Given the description of an element on the screen output the (x, y) to click on. 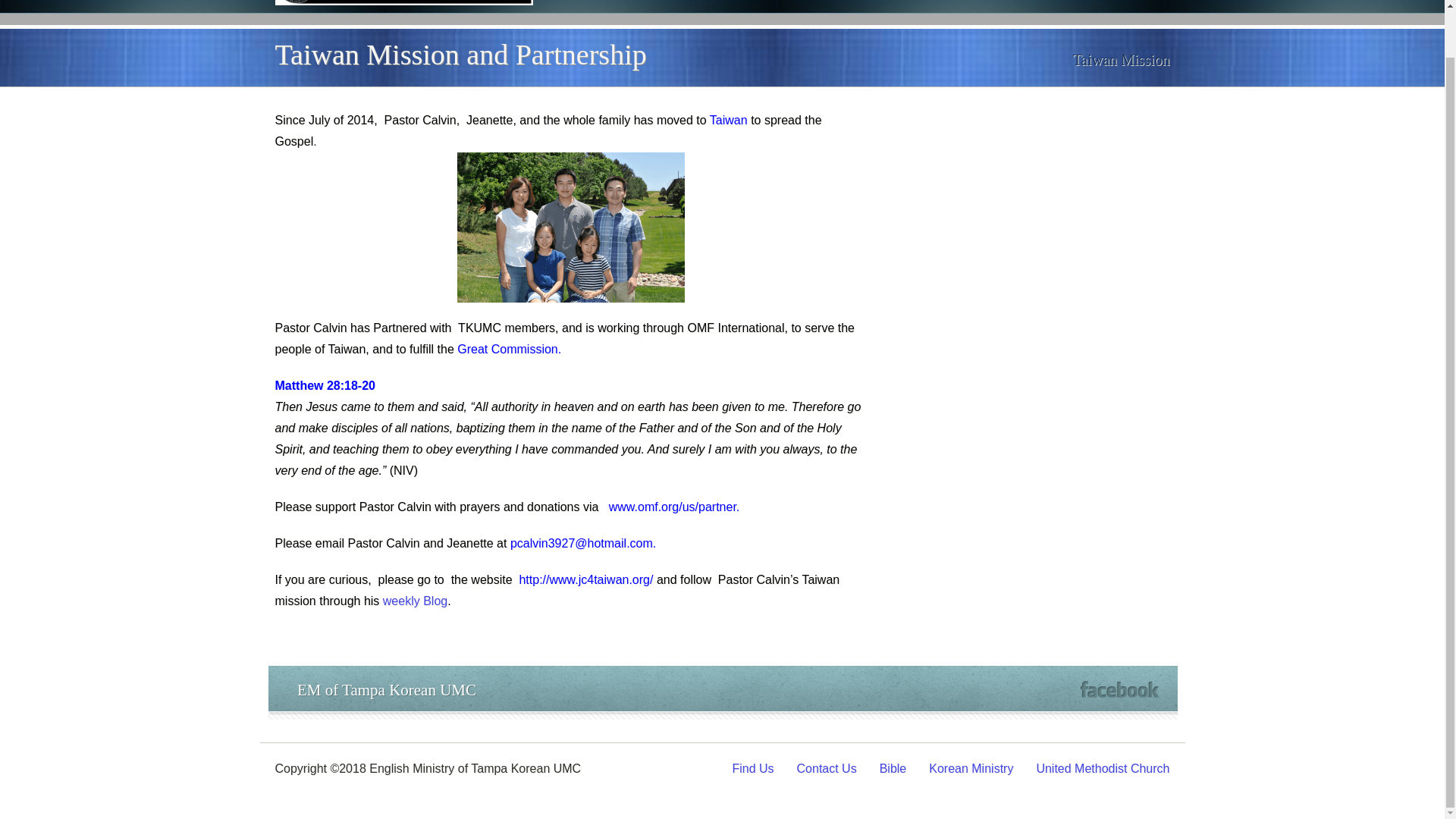
The Wesley Chapel (403, 14)
Taiwan (729, 119)
Contact Us (826, 768)
Taiwan wiki (729, 119)
Korean Ministry (970, 768)
Facebook (1118, 689)
Great Commission (507, 349)
The Wesley Chapel -  (403, 14)
OMF International (735, 327)
United Methodist Church (1102, 768)
weekly Blog (414, 600)
Find Us (752, 768)
Bible (893, 768)
